Given the description of an element on the screen output the (x, y) to click on. 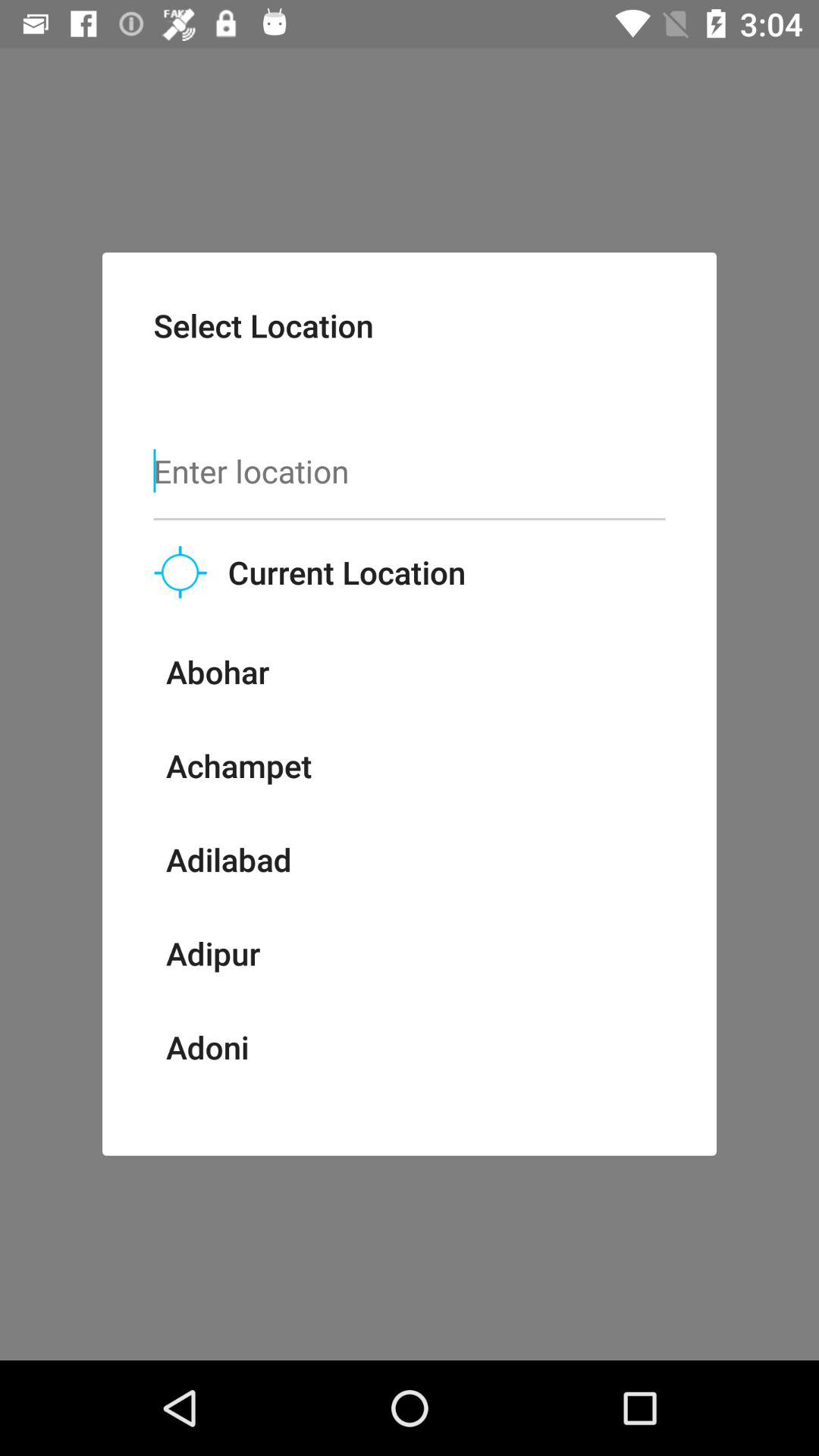
flip until the adilabad (228, 859)
